Given the description of an element on the screen output the (x, y) to click on. 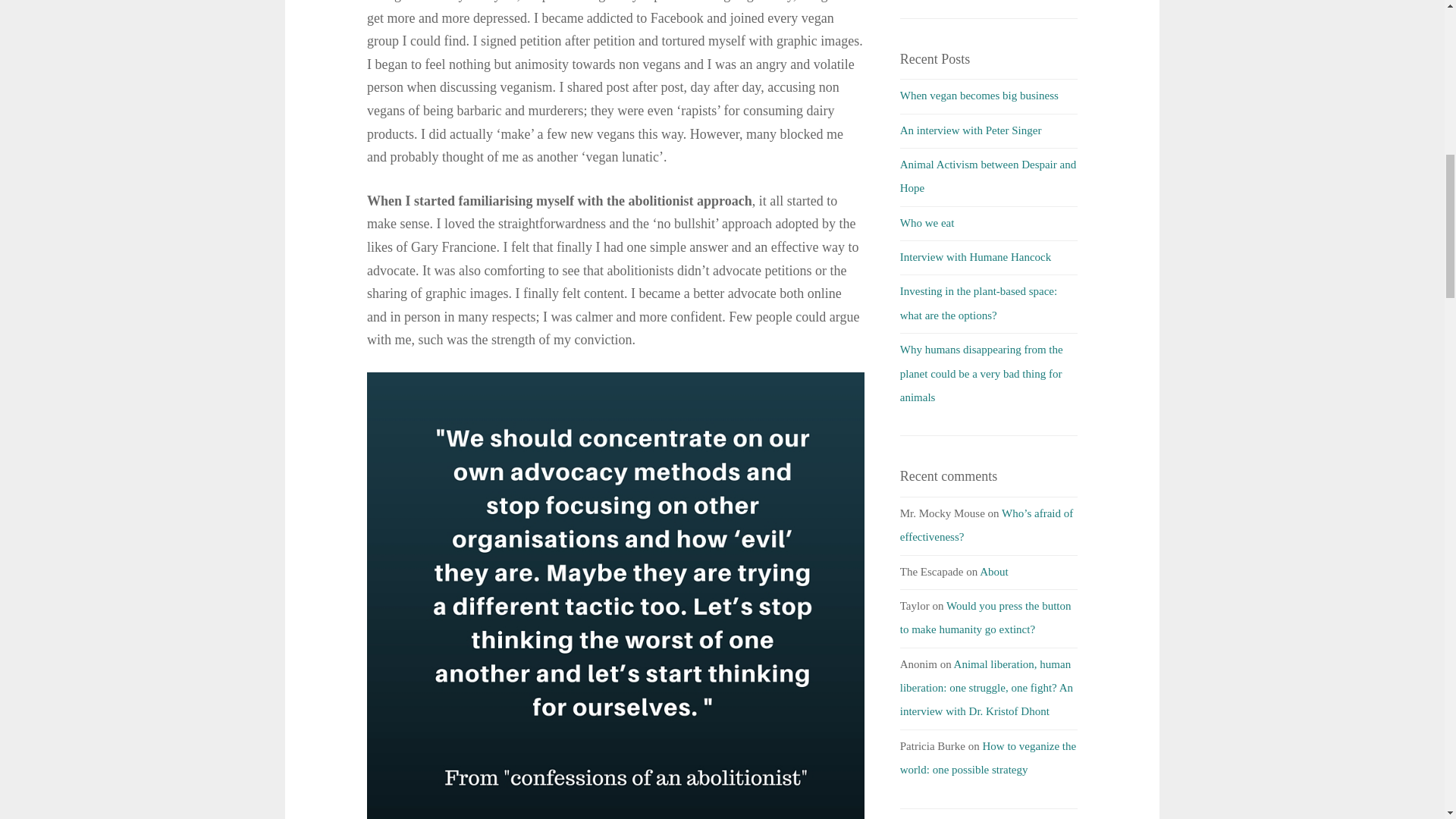
An interview with Peter Singer (970, 130)
Who we eat (927, 223)
When vegan becomes big business (978, 95)
Animal Activism between Despair and Hope (987, 176)
Interview with Humane Hancock (975, 256)
Investing in the plant-based space: what are the options? (978, 303)
Would you press the button to make humanity go extinct? (985, 617)
How to veganize the world: one possible strategy (987, 757)
About (994, 571)
